Given the description of an element on the screen output the (x, y) to click on. 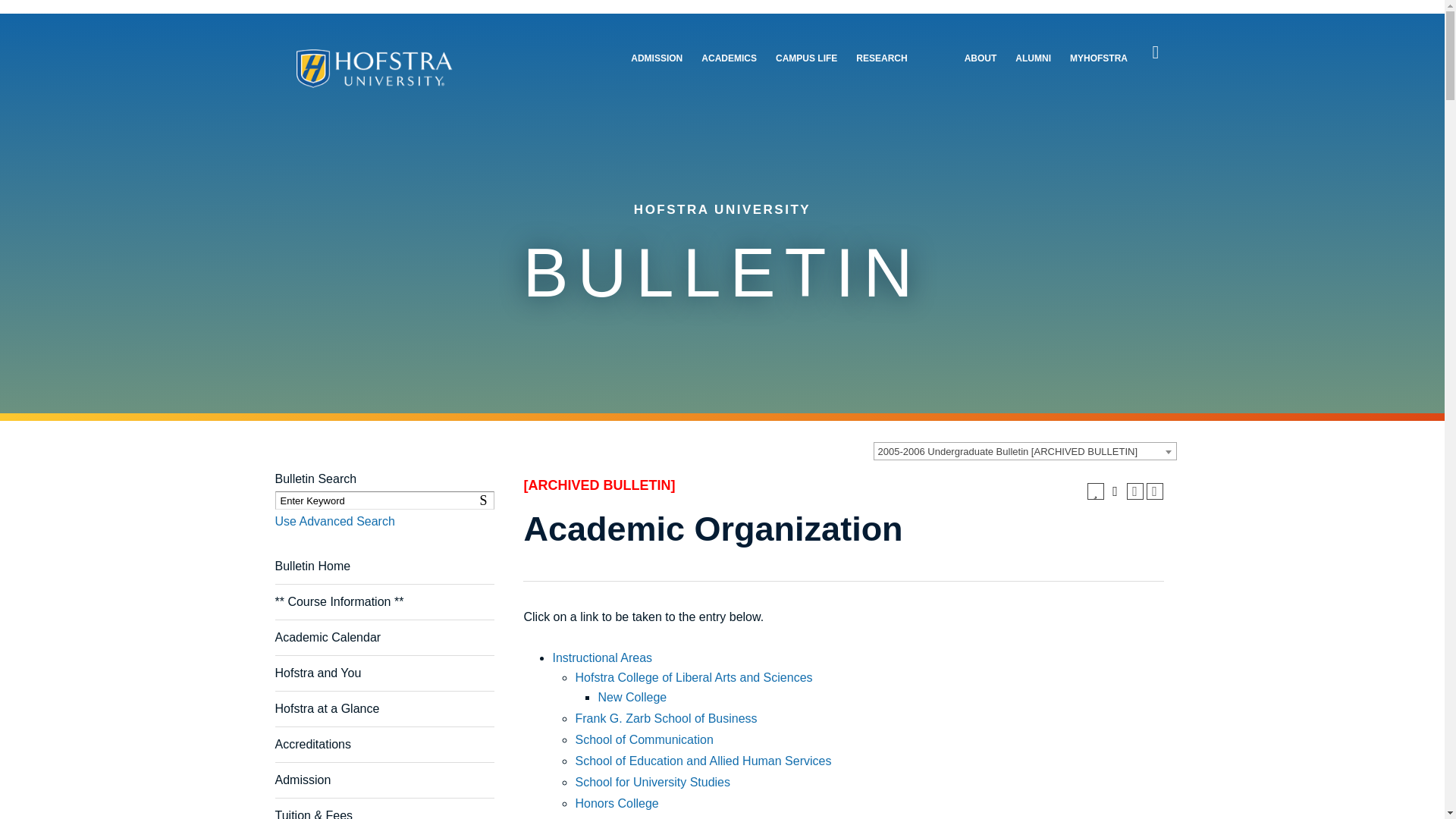
Use Advanced Search (334, 521)
Enter Keyword   (385, 500)
GO (16, 9)
Search Keyword Field, required (385, 500)
RESEARCH (881, 58)
Bulletin Home (312, 565)
CAMPUS LIFE (806, 58)
Search (1155, 52)
Search (486, 500)
Academic Calendar (327, 636)
ADMISSION (486, 500)
ACADEMICS (656, 58)
Select a Bulletin (729, 58)
